Given the description of an element on the screen output the (x, y) to click on. 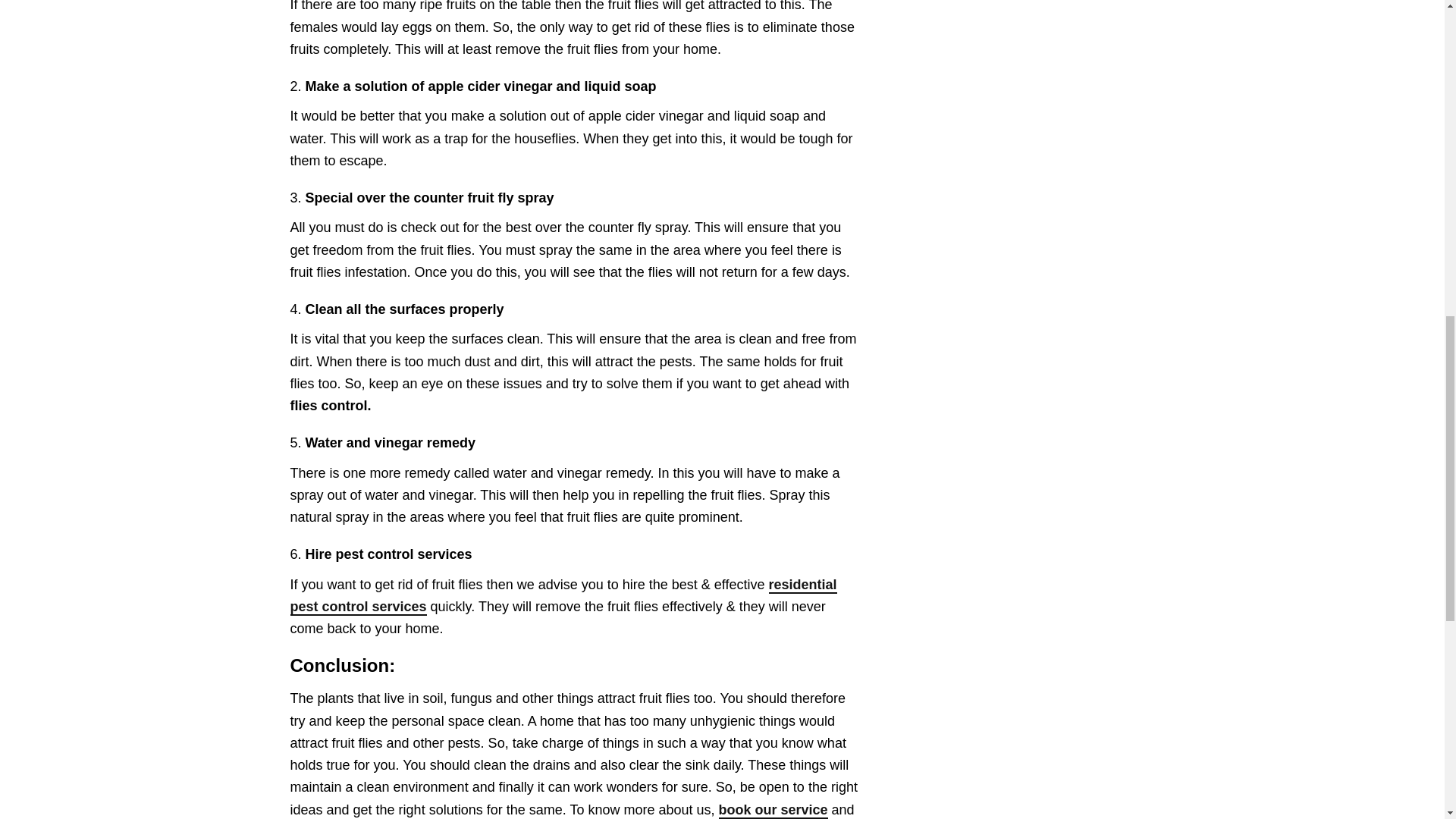
book our service (773, 810)
residential pest control services (562, 596)
